Given the description of an element on the screen output the (x, y) to click on. 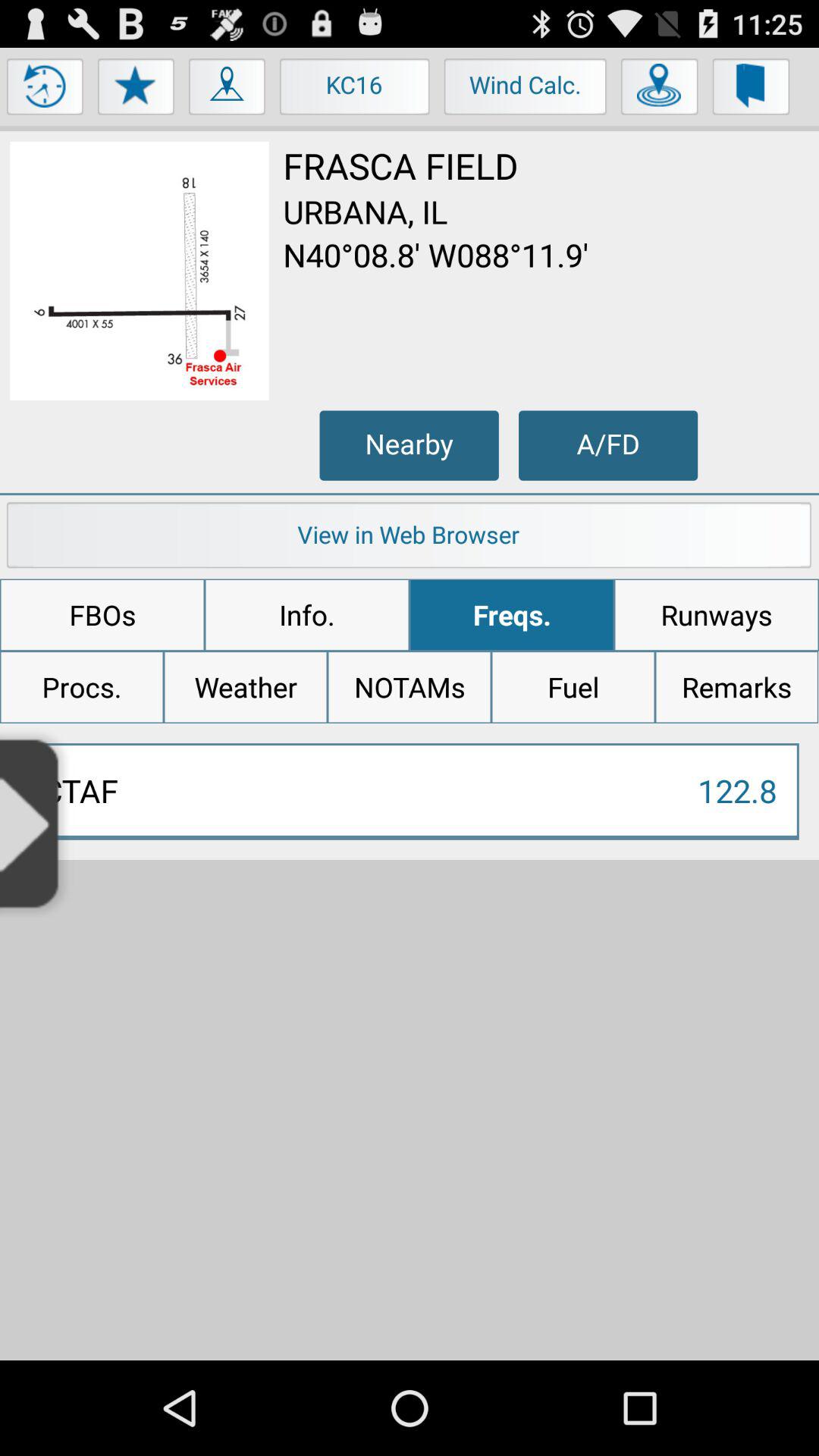
people (227, 90)
